Given the description of an element on the screen output the (x, y) to click on. 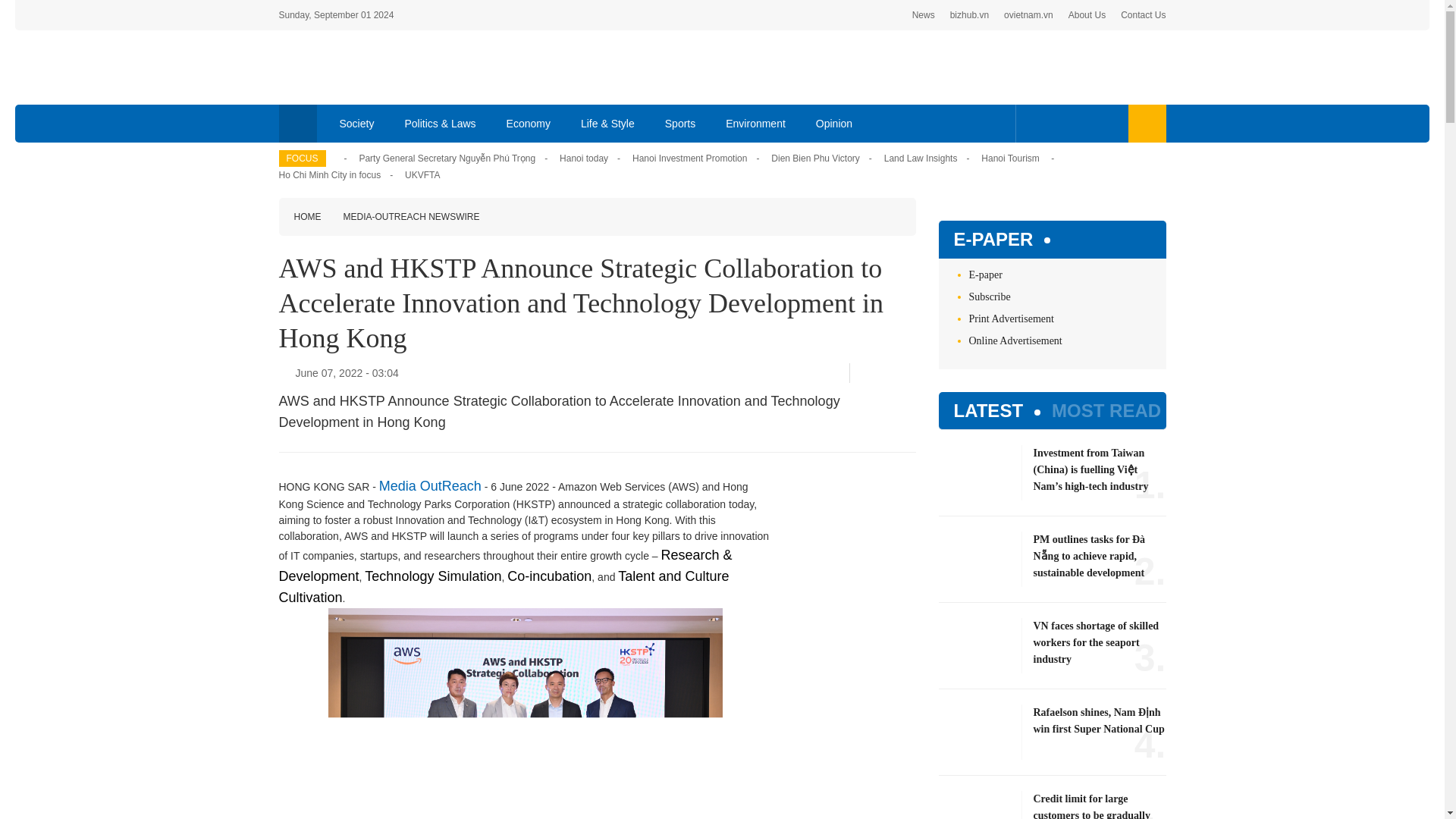
Facebook (1035, 123)
Economy (529, 123)
News (923, 15)
Opinion (833, 123)
Youtube (1081, 122)
Environment (755, 123)
About Us (1086, 15)
Twitter (1056, 122)
ovietnam.vn (1028, 15)
Instagram (1106, 123)
